Given the description of an element on the screen output the (x, y) to click on. 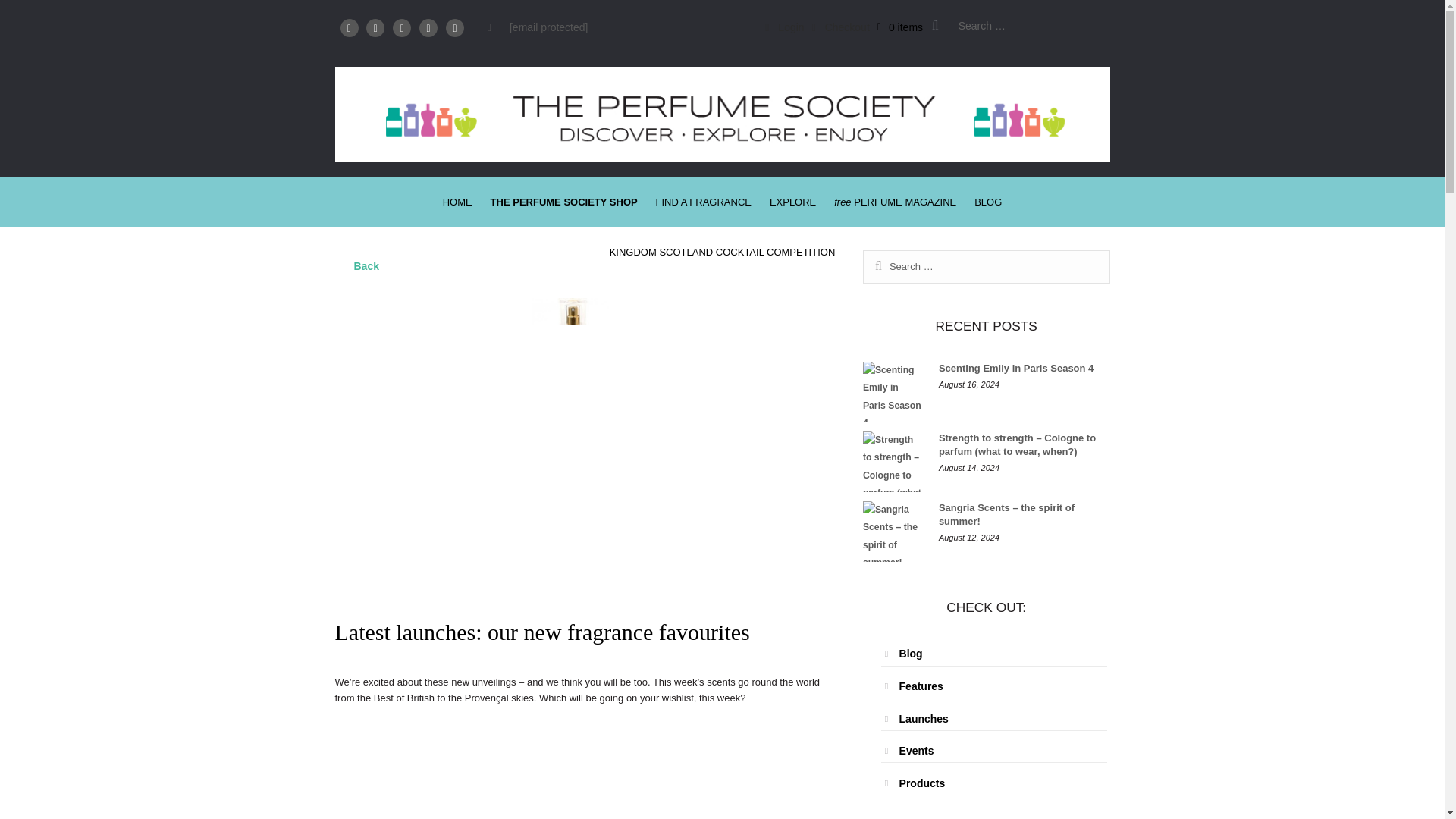
Checkout (840, 27)
Login (784, 27)
View your shopping basket (900, 27)
THE PERFUME SOCIETY SHOP (563, 201)
Scenting Emily in Paris Season 4 (893, 391)
0 items (900, 27)
